Given the description of an element on the screen output the (x, y) to click on. 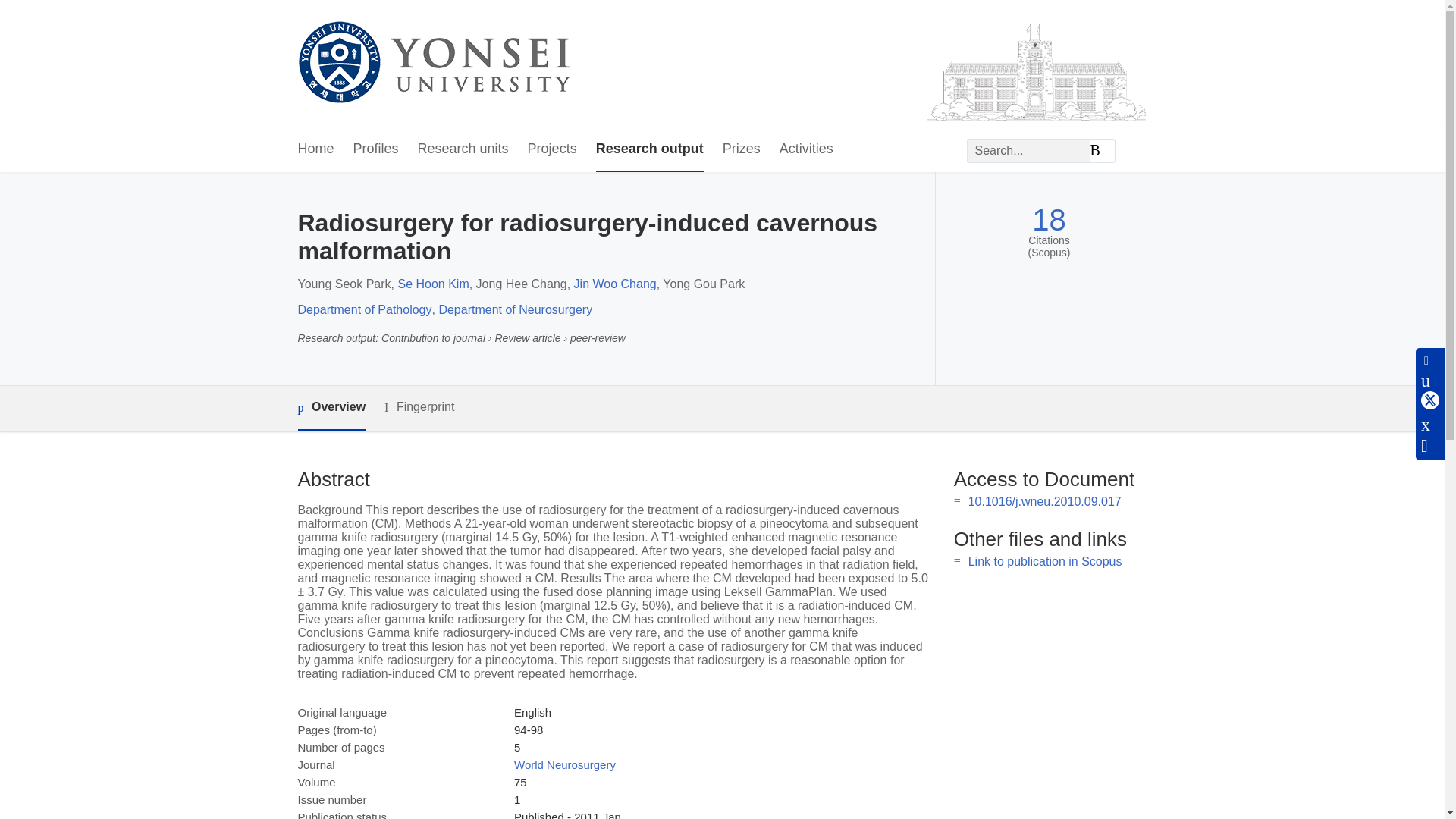
Department of Pathology (363, 309)
18 (1048, 220)
Department of Neurosurgery (515, 309)
Profiles (375, 149)
Overview (331, 407)
Jin Woo Chang (614, 283)
Link to publication in Scopus (1045, 561)
Activities (805, 149)
Research units (462, 149)
